Given the description of an element on the screen output the (x, y) to click on. 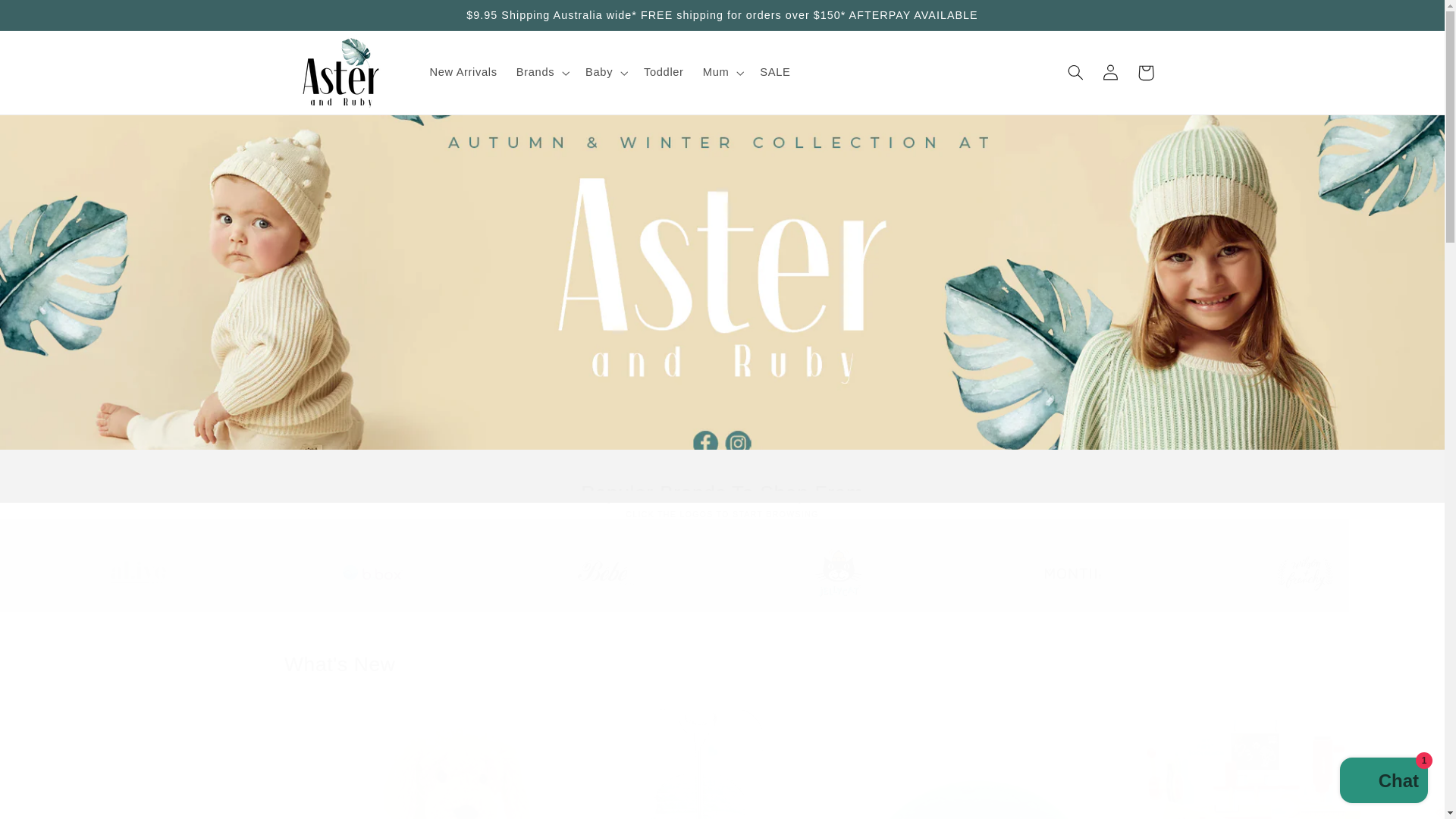
Shopify online store chat (1383, 781)
Skip to content (48, 18)
Popular Brands To Shop From (722, 493)
What's New (721, 664)
CLICK THE LOGOS TO START BROWSING (722, 514)
